Given the description of an element on the screen output the (x, y) to click on. 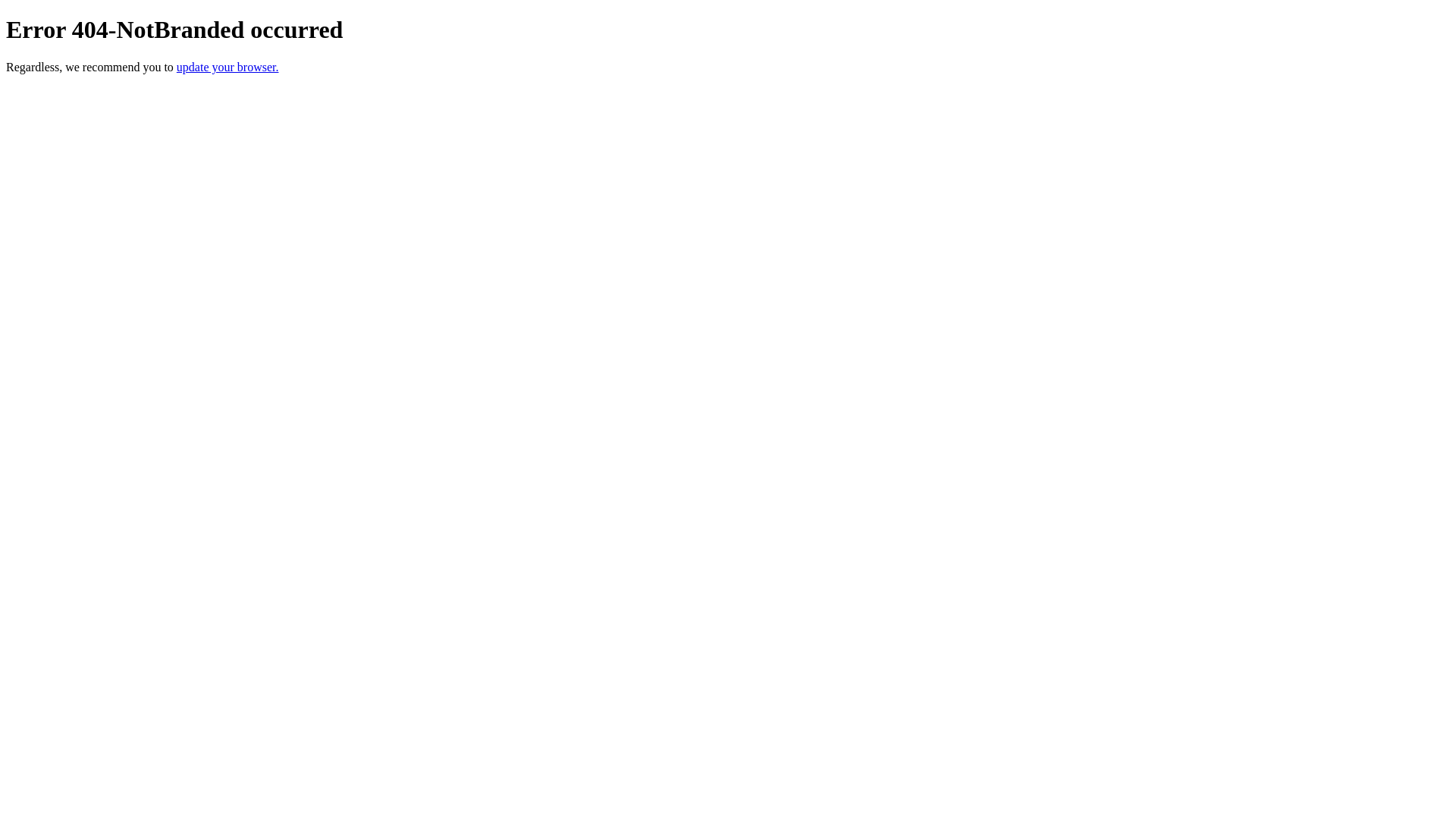
update your browser. Element type: text (227, 66)
